Given the description of an element on the screen output the (x, y) to click on. 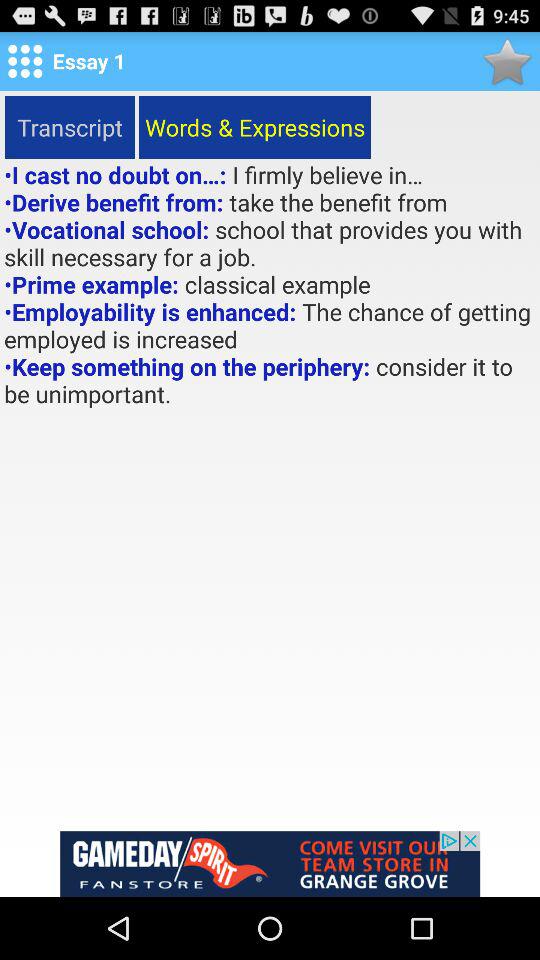
settings (25, 61)
